Given the description of an element on the screen output the (x, y) to click on. 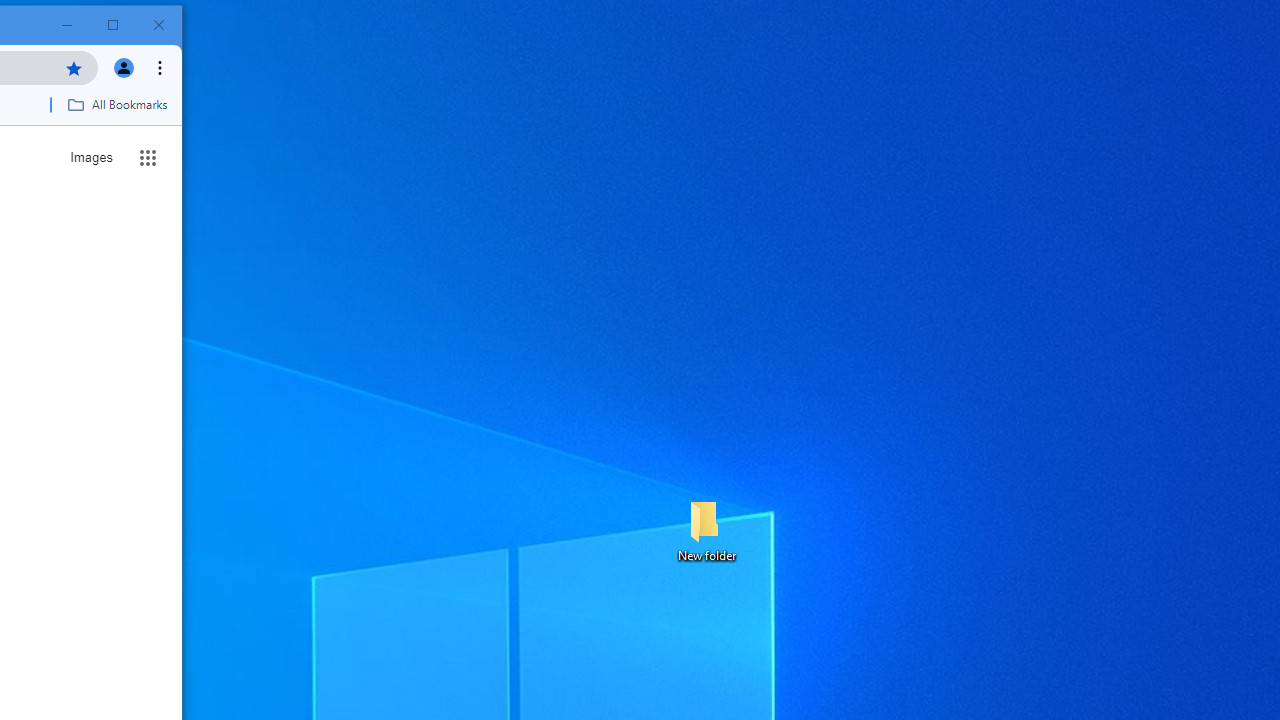
New folder (706, 530)
